Given the description of an element on the screen output the (x, y) to click on. 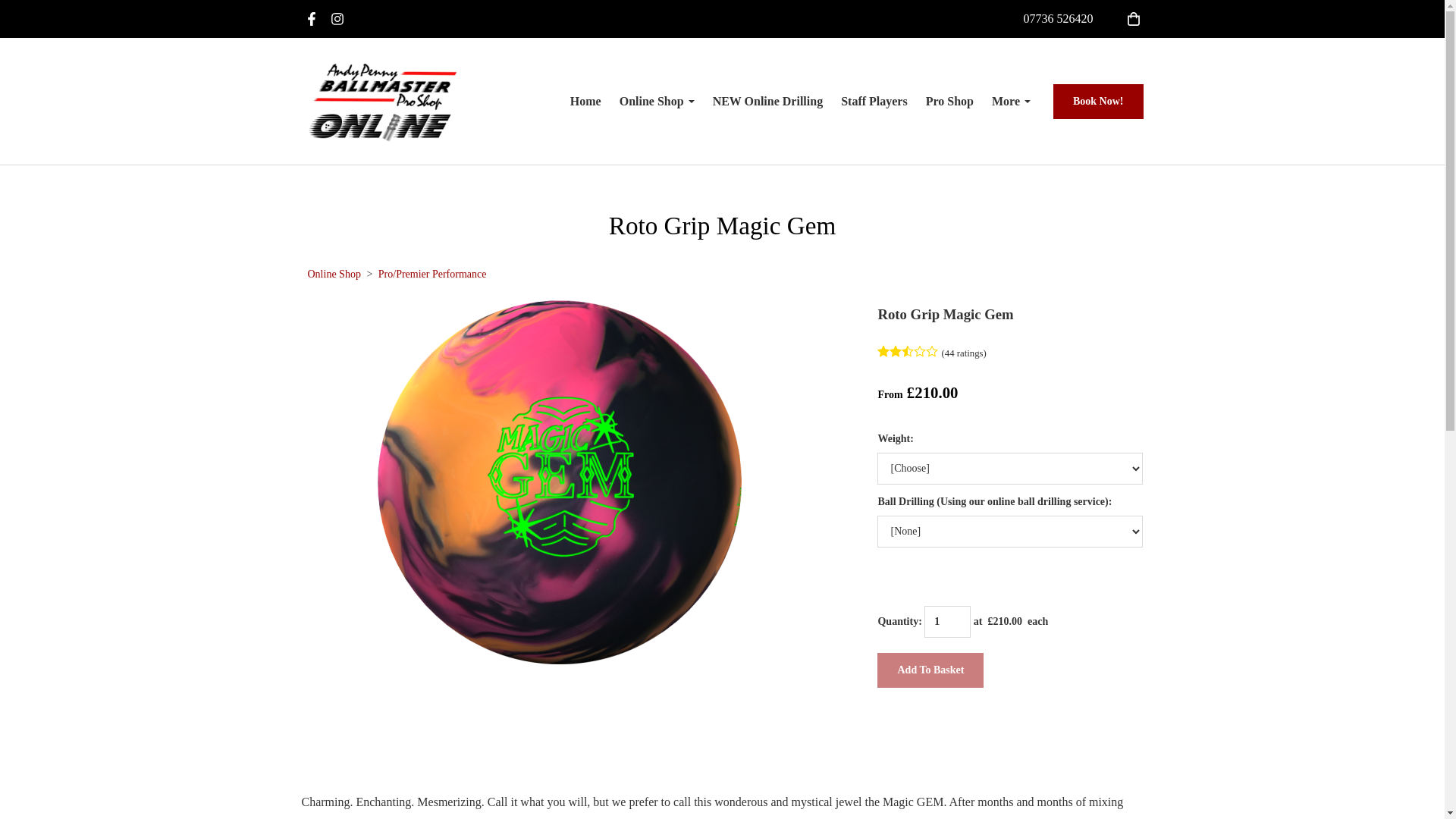
Online Shop (656, 101)
More (1010, 101)
NEW Online Drilling (767, 101)
Staff Players (874, 101)
Pro Shop (949, 101)
PayPal Message 1 (1009, 731)
instagram (337, 20)
Weight (1009, 468)
facebook (311, 20)
07736 526420 (1058, 18)
1 (947, 622)
Home (585, 101)
